Given the description of an element on the screen output the (x, y) to click on. 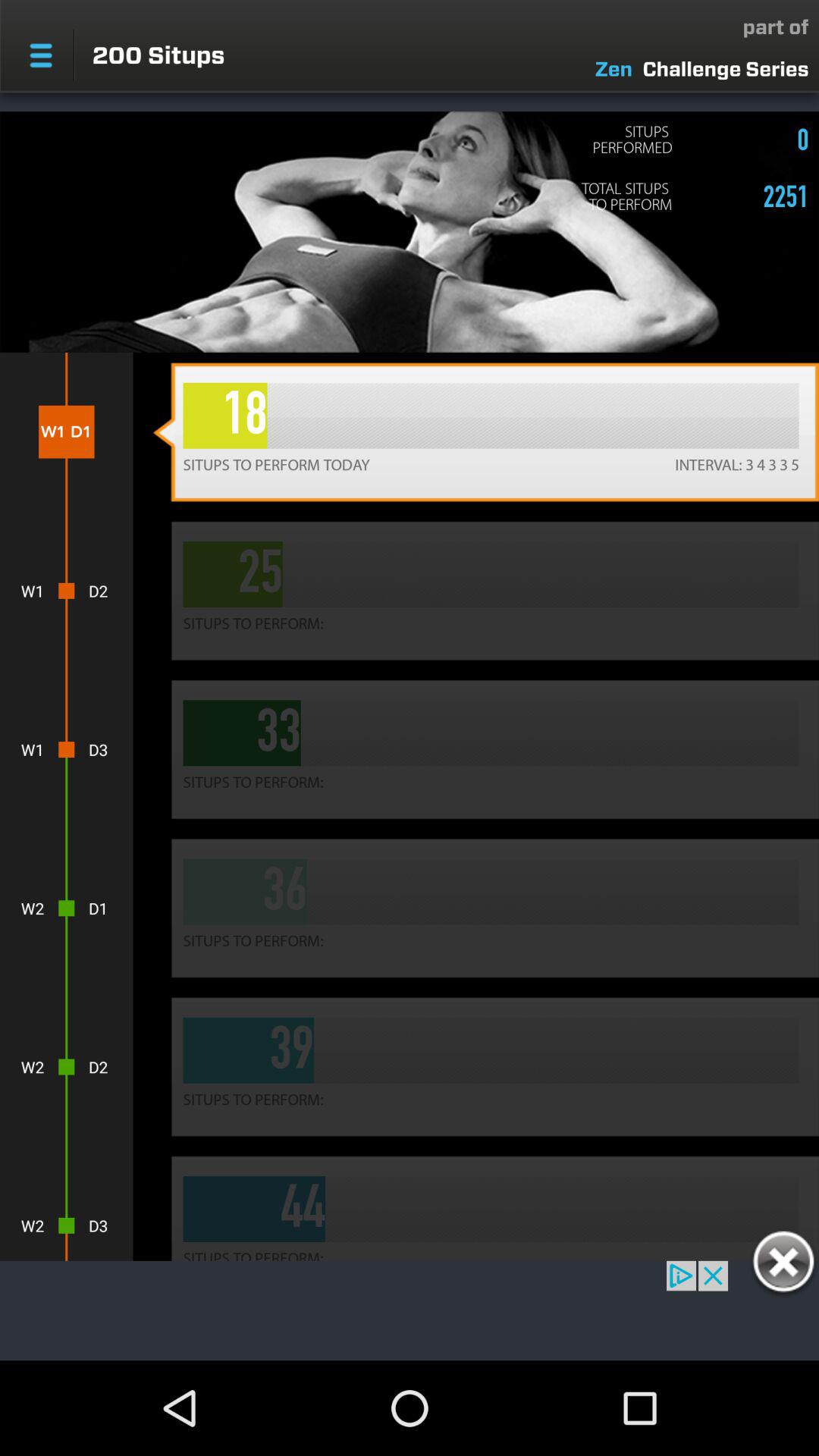
close advertisement (783, 1264)
